Given the description of an element on the screen output the (x, y) to click on. 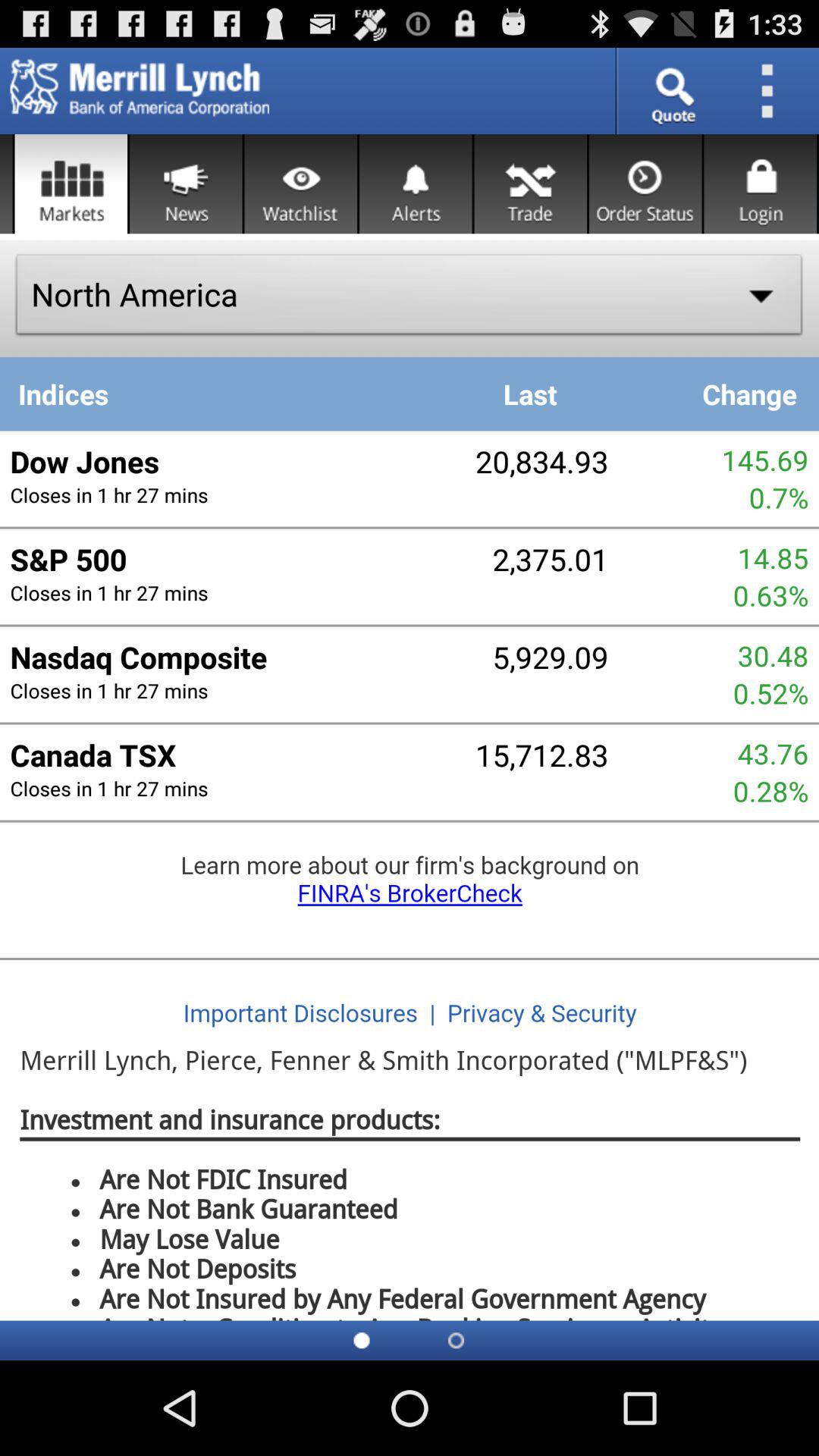
select the watch list (300, 183)
